Given the description of an element on the screen output the (x, y) to click on. 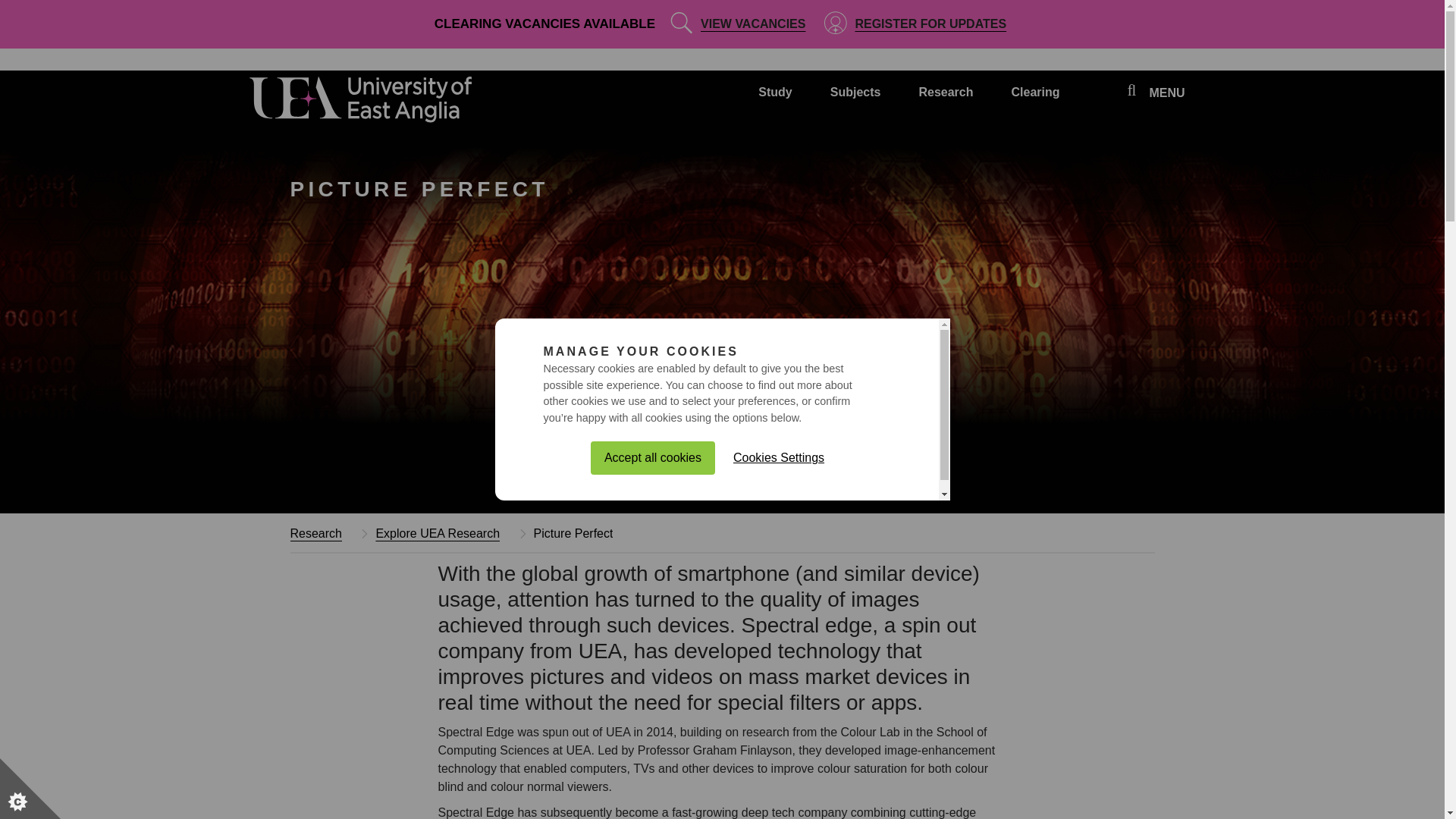
Study (775, 98)
Go to University of East Anglia (362, 101)
MENU (1166, 94)
Subjects (854, 98)
Accept all cookies (652, 703)
Cookies Settings (777, 693)
Research (945, 98)
Clearing (1034, 98)
